Given the description of an element on the screen output the (x, y) to click on. 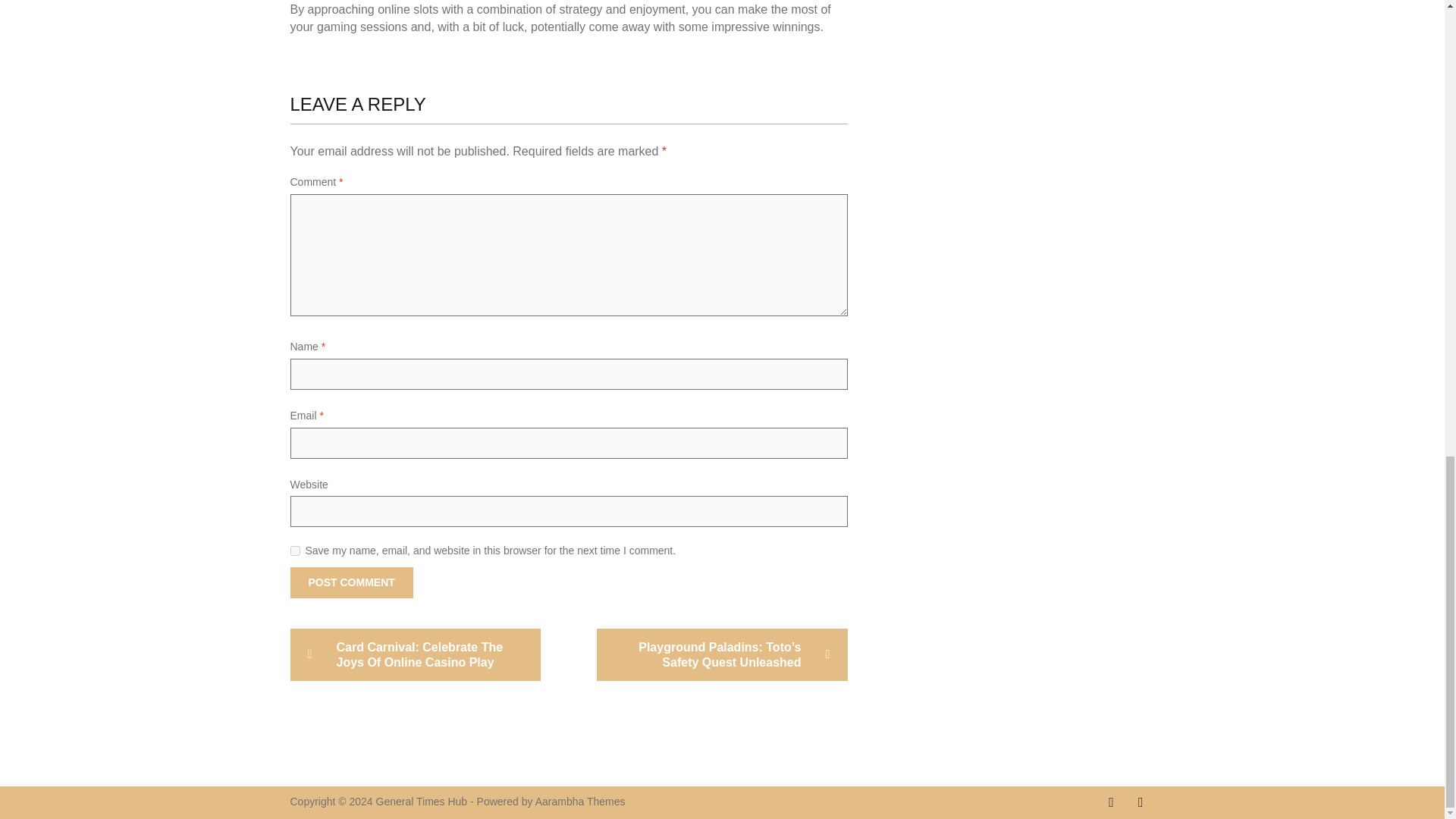
yes (294, 551)
Post Comment (350, 582)
Post Comment (350, 582)
Card Carnival: Celebrate The Joys Of Online Casino Play (414, 654)
